Given the description of an element on the screen output the (x, y) to click on. 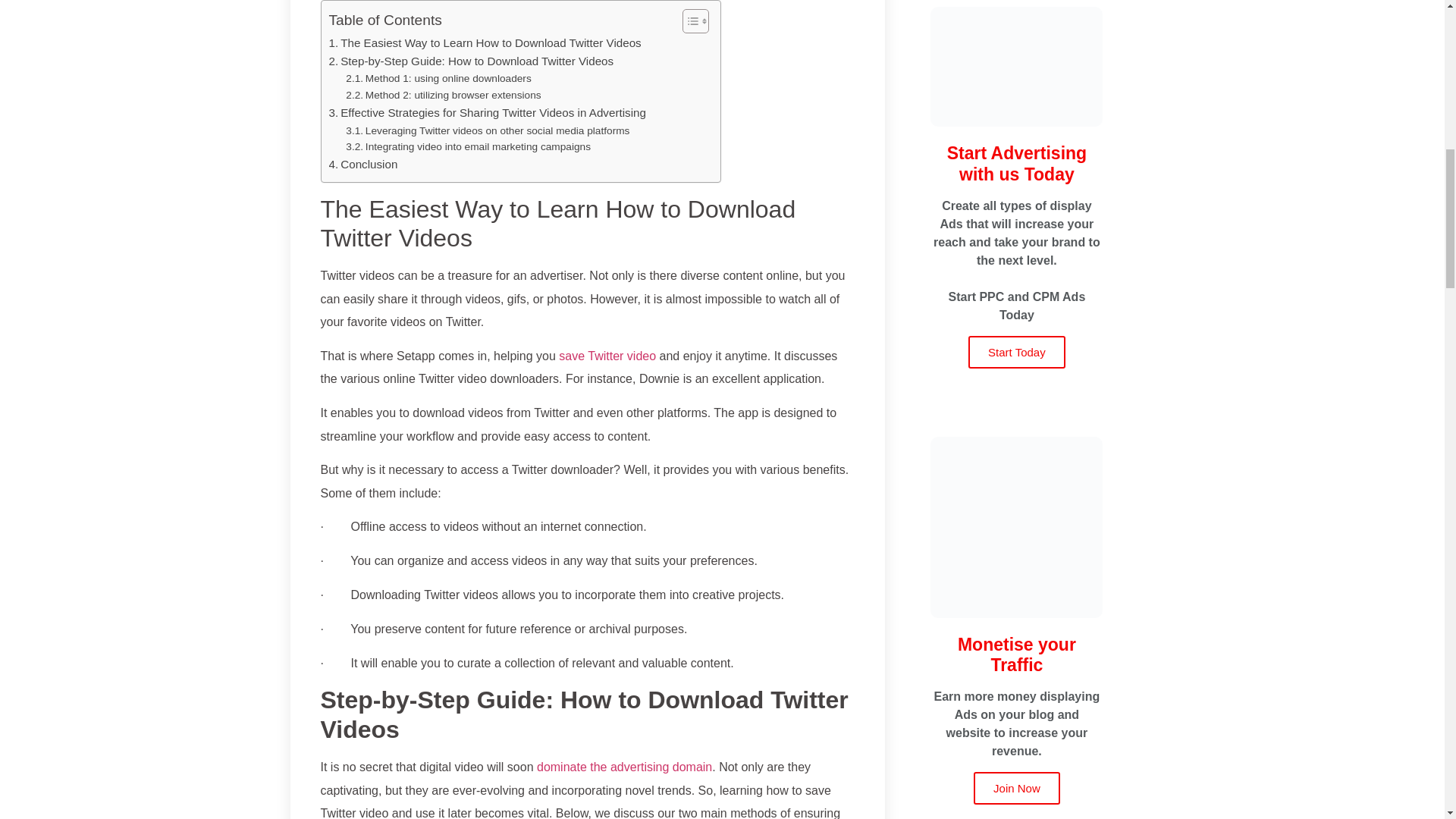
dominate the advertising domain (624, 766)
save Twitter video (607, 355)
Leveraging Twitter videos on other social media platforms (487, 130)
Method 1: using online downloaders (438, 78)
Method 2: utilizing browser extensions (443, 95)
Step-by-Step Guide: How to Download Twitter Videos (471, 61)
Leveraging Twitter videos on other social media platforms (487, 130)
Step-by-Step Guide: How to Download Twitter Videos (471, 61)
